Given the description of an element on the screen output the (x, y) to click on. 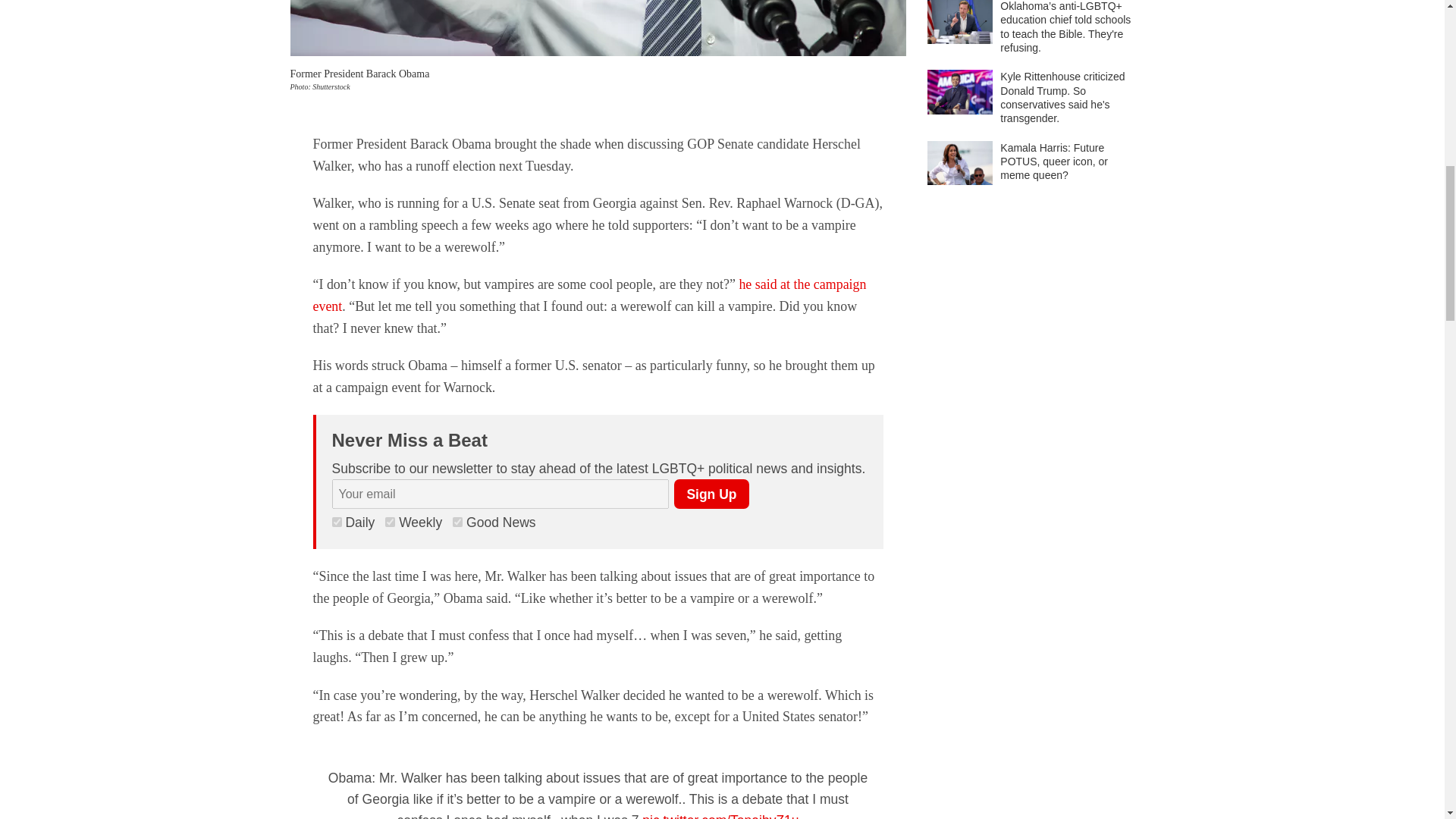
Sign Up (711, 493)
1920885 (336, 521)
Charlotte,,Nc,,Usa,-,July,5,,2016:,Barack,Obama,President (597, 28)
1920883 (457, 521)
he said at the campaign event (589, 294)
1920884 (389, 521)
